Given the description of an element on the screen output the (x, y) to click on. 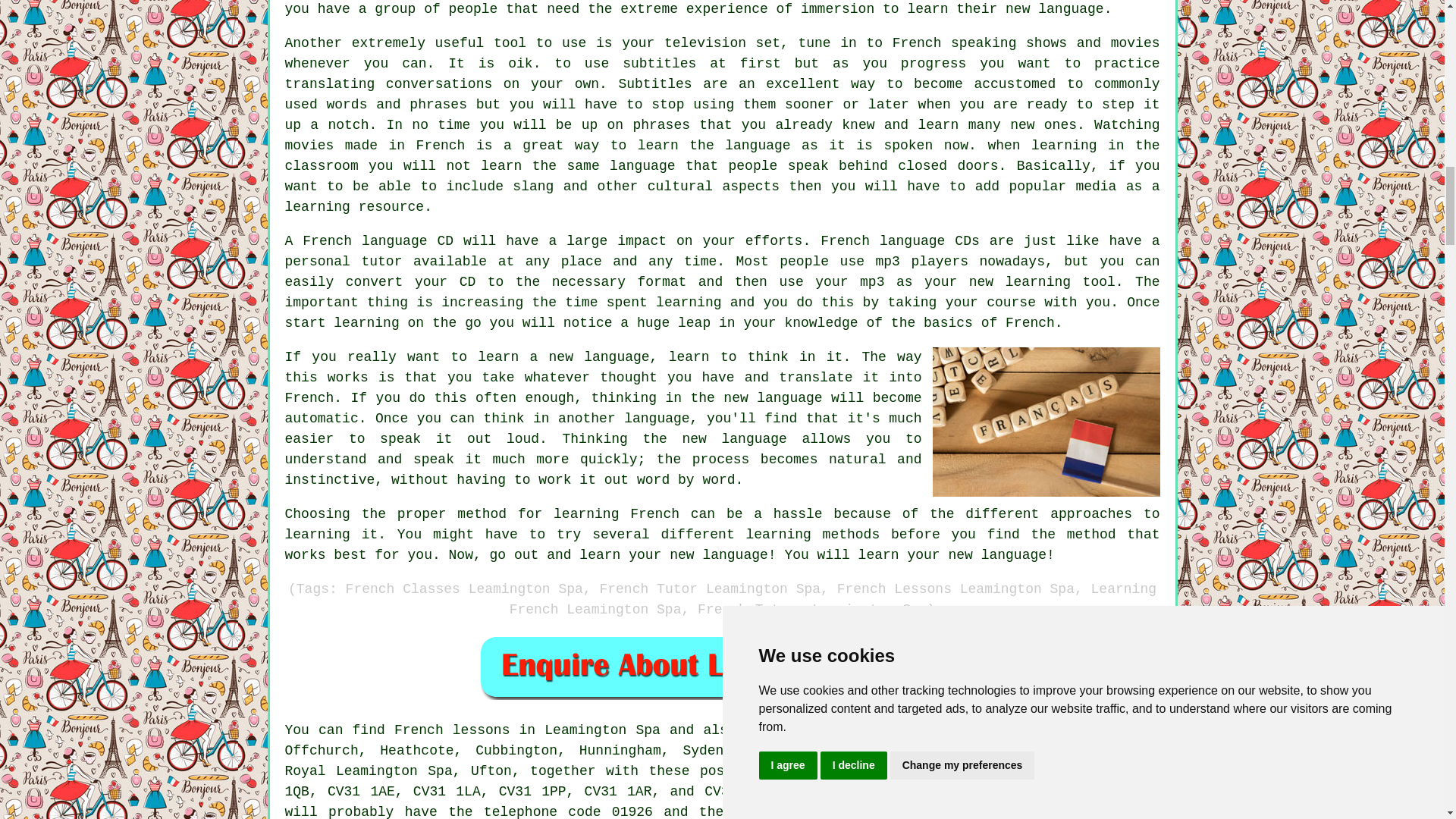
French Teachers Leamington Spa Warwickshire (1046, 421)
French lessons (452, 729)
Book French Lessons in Leamington Spa UK (722, 666)
French teachers (1096, 791)
